Given the description of an element on the screen output the (x, y) to click on. 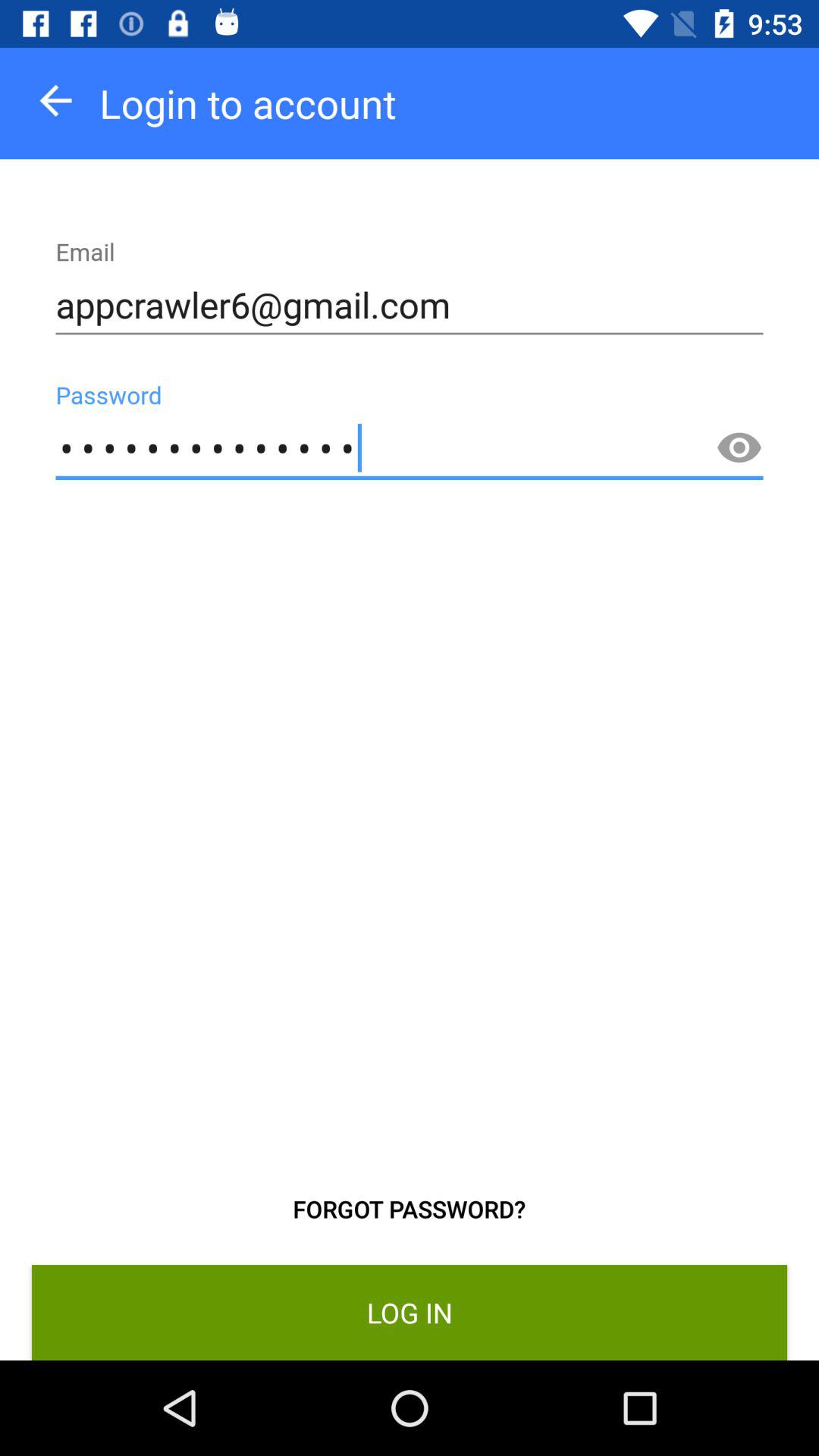
turn off the icon above the log in item (409, 1208)
